Given the description of an element on the screen output the (x, y) to click on. 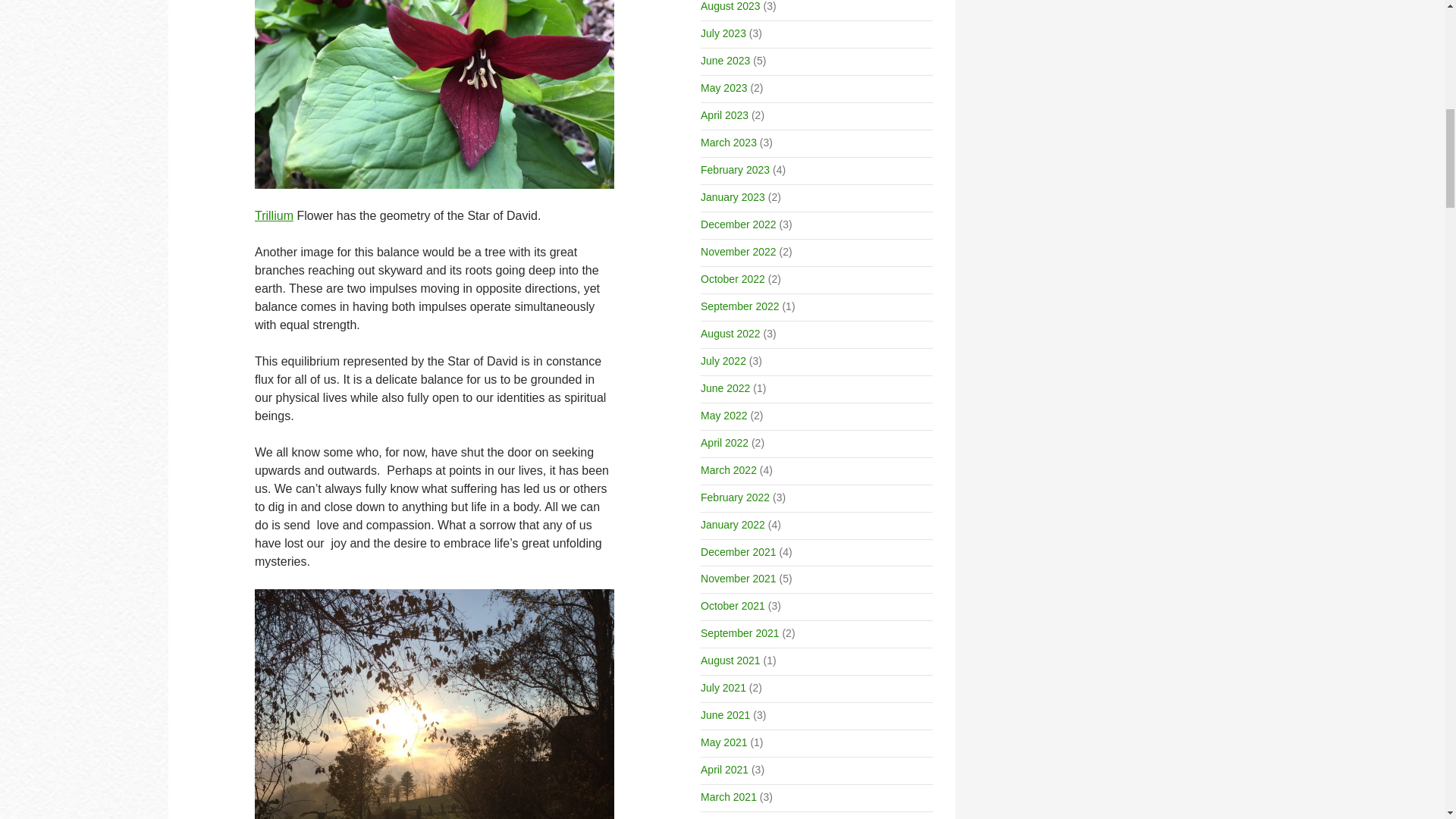
June 2023 (724, 60)
May 2023 (723, 87)
August 2023 (730, 6)
Trillium (274, 215)
July 2023 (722, 33)
